Given the description of an element on the screen output the (x, y) to click on. 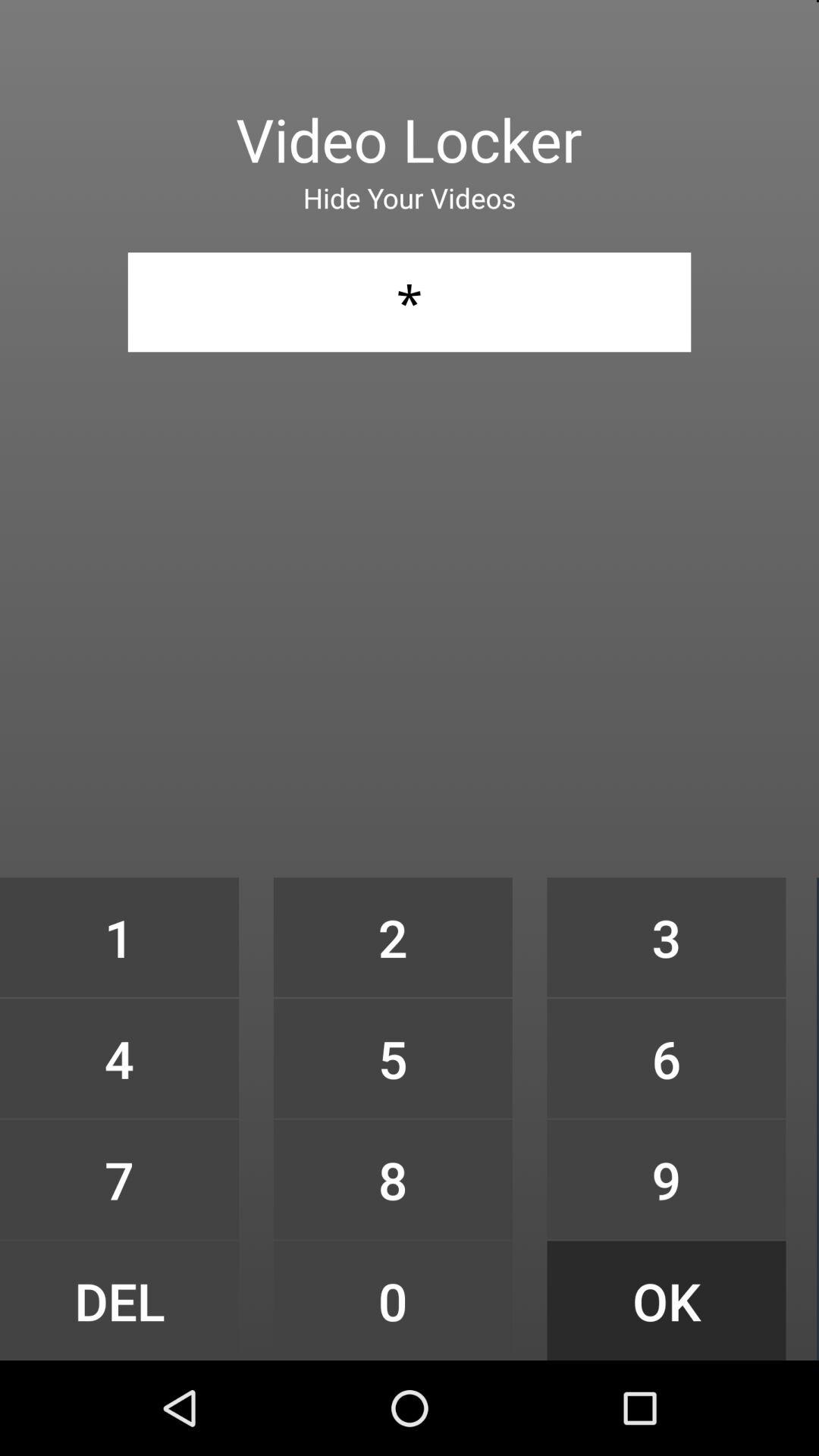
swipe to 6 icon (666, 1058)
